Given the description of an element on the screen output the (x, y) to click on. 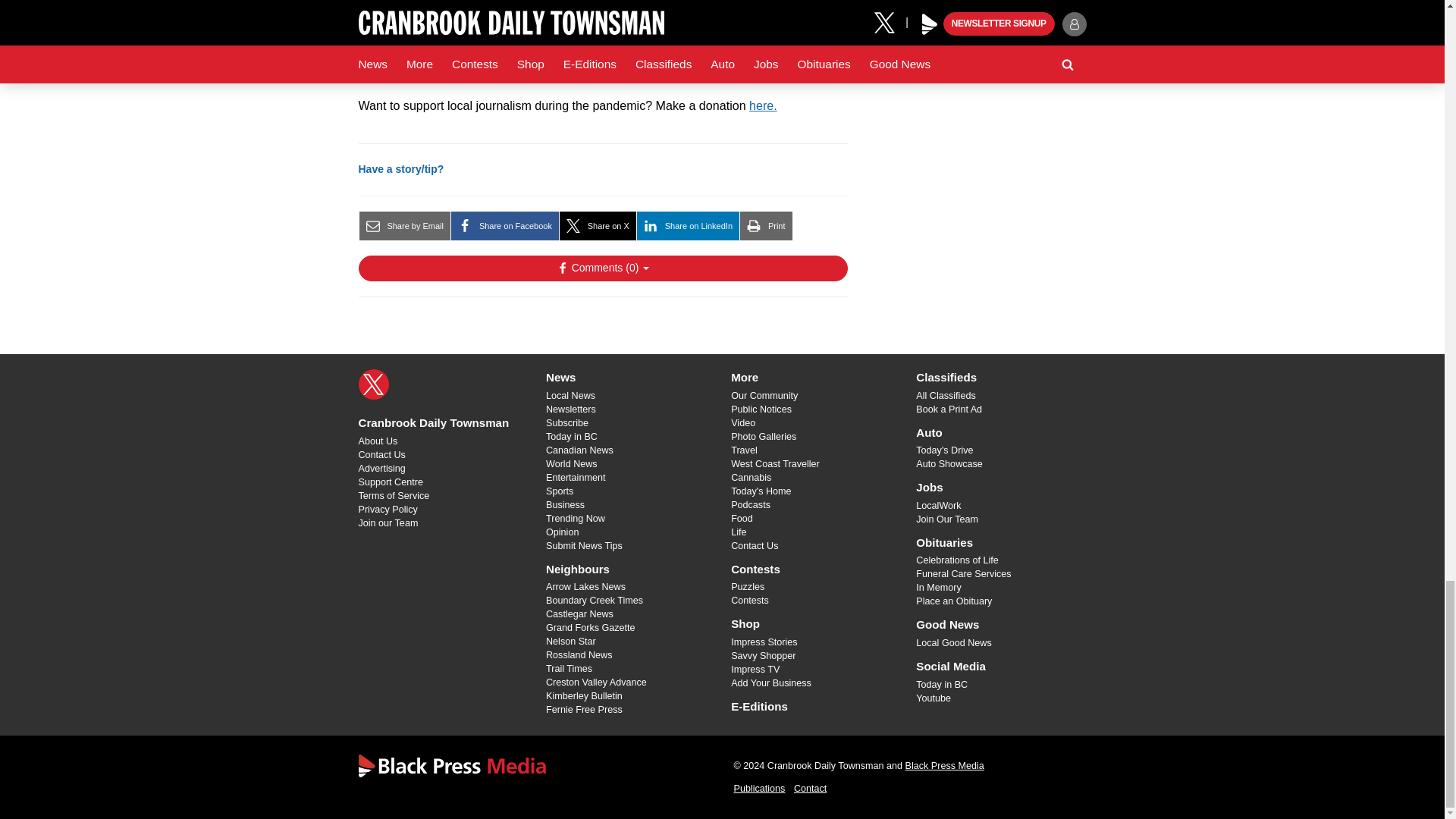
Show Comments (602, 268)
X (373, 384)
